Given the description of an element on the screen output the (x, y) to click on. 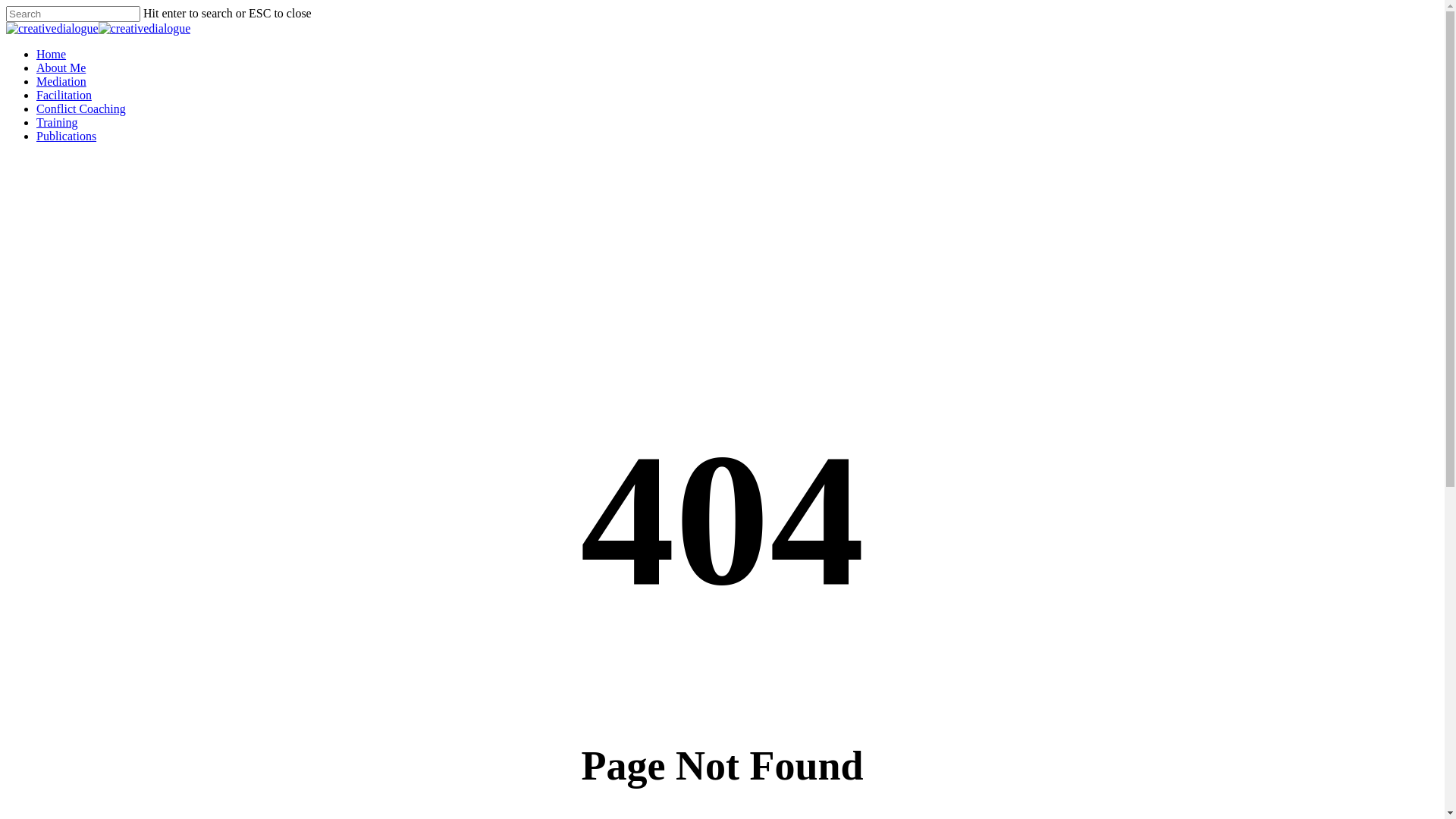
Training Element type: text (57, 122)
Skip to main content Element type: text (5, 5)
About Me Element type: text (60, 67)
Facilitation Element type: text (63, 94)
Home Element type: text (50, 53)
Publications Element type: text (66, 135)
Mediation Element type: text (61, 81)
Conflict Coaching Element type: text (80, 108)
